Given the description of an element on the screen output the (x, y) to click on. 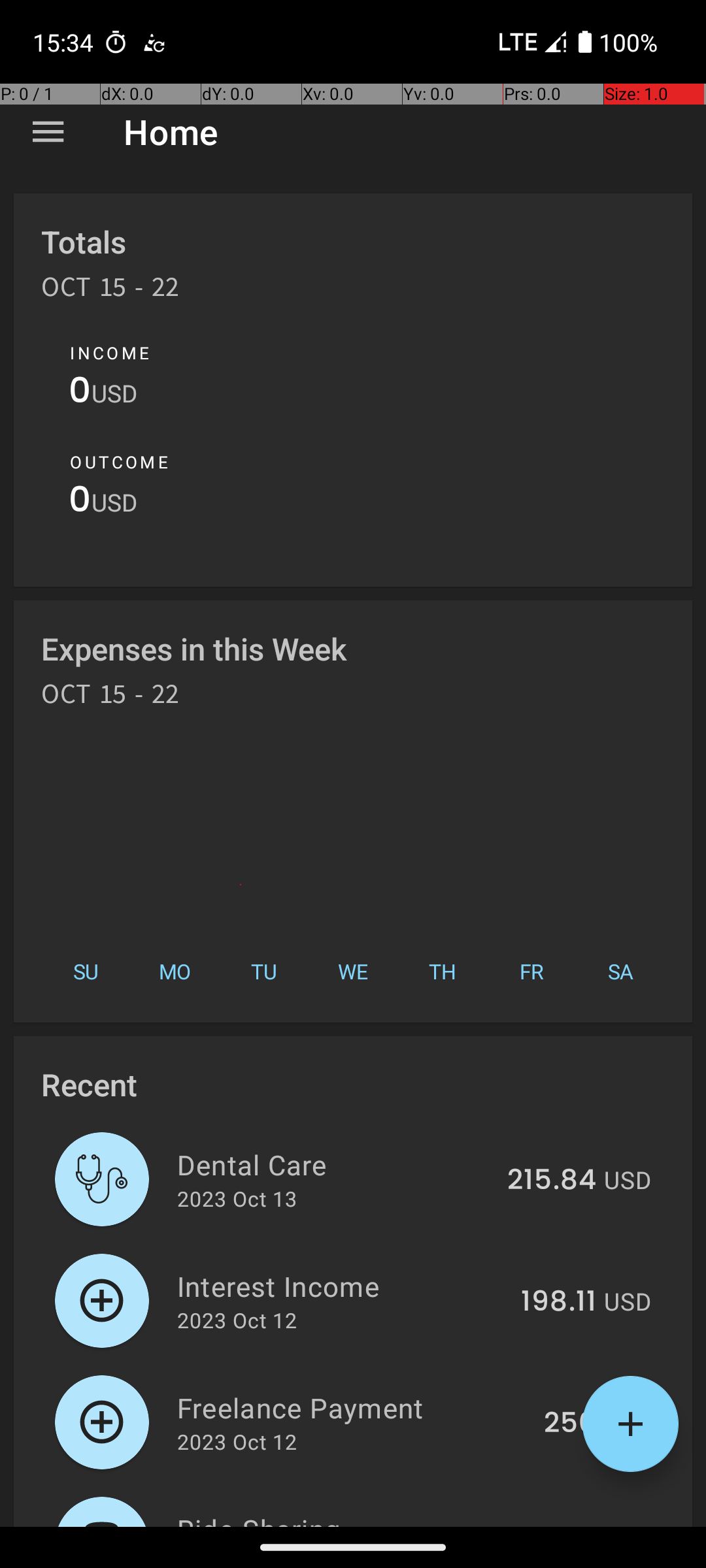
Dental Care Element type: android.widget.TextView (334, 1164)
215.84 Element type: android.widget.TextView (551, 1180)
Interest Income Element type: android.widget.TextView (341, 1285)
198.11 Element type: android.widget.TextView (558, 1301)
250 Element type: android.widget.TextView (569, 1423)
Ride-Sharing Element type: android.widget.TextView (329, 1518)
446.88 Element type: android.widget.TextView (546, 1524)
